Given the description of an element on the screen output the (x, y) to click on. 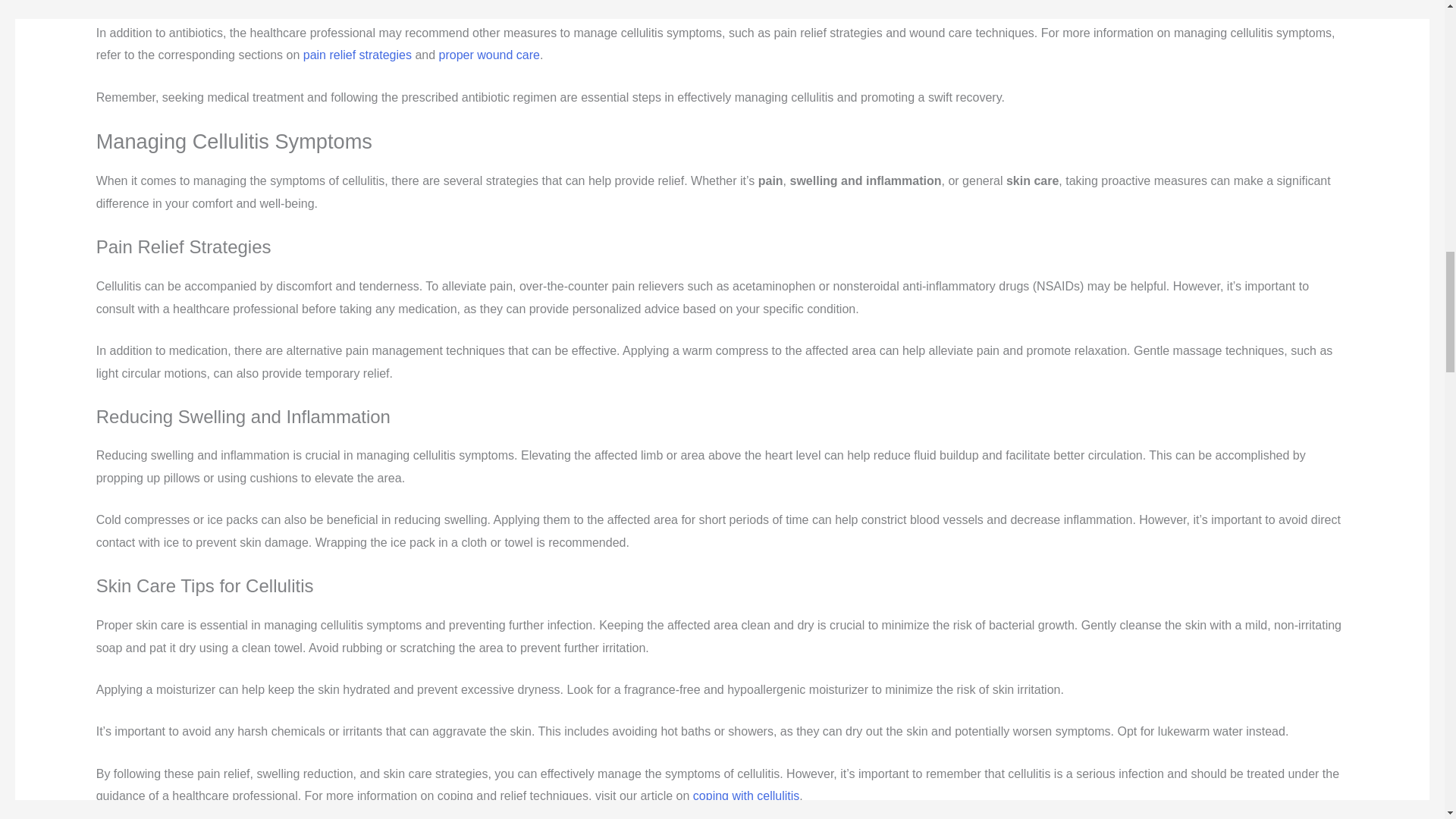
coping with cellulitis (746, 795)
proper wound care (489, 54)
pain relief strategies (357, 54)
